Given the description of an element on the screen output the (x, y) to click on. 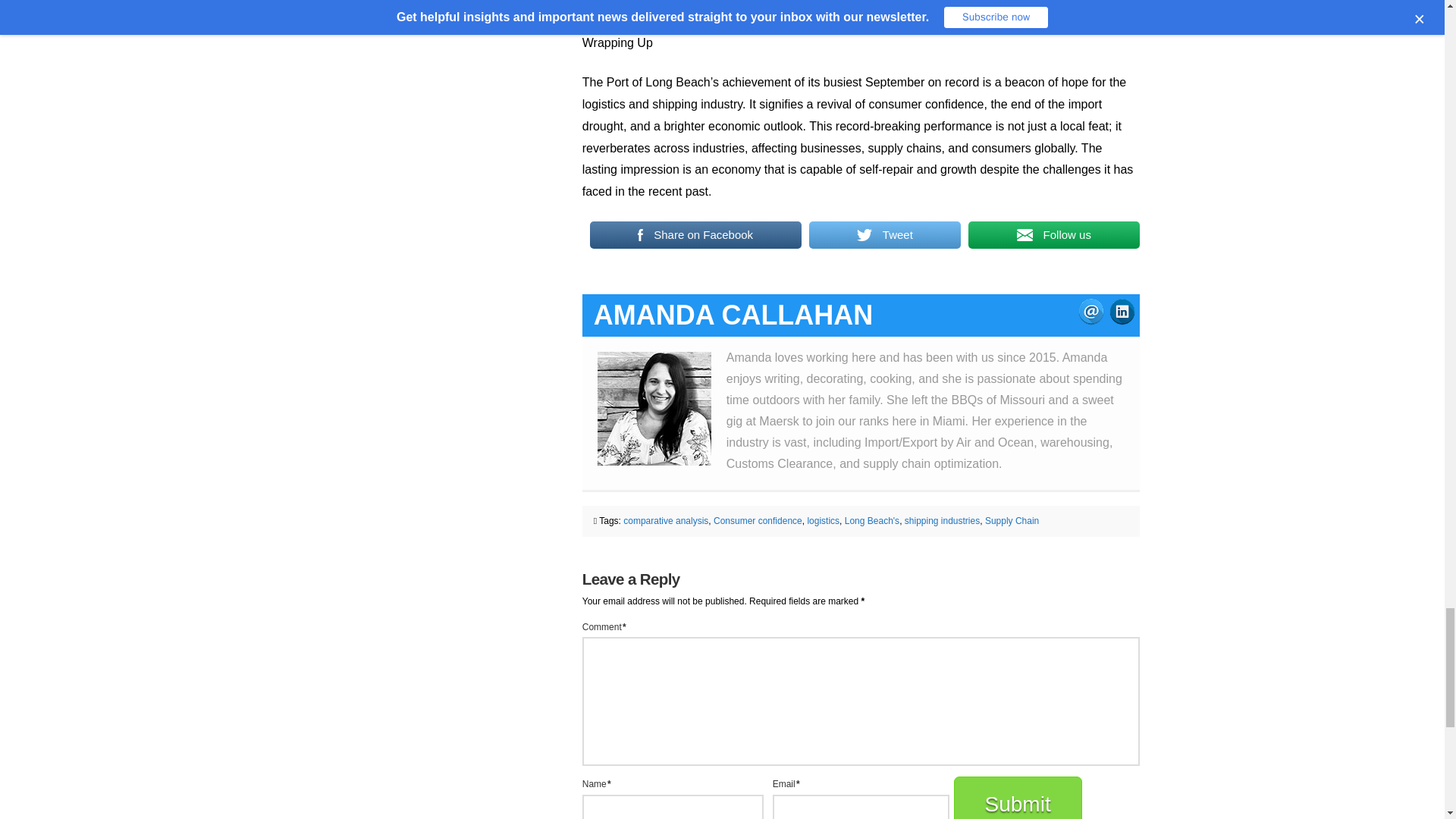
Share on Facebook (695, 234)
Submit (1017, 797)
Tweet (884, 234)
Amanda Callahan (733, 314)
